Given the description of an element on the screen output the (x, y) to click on. 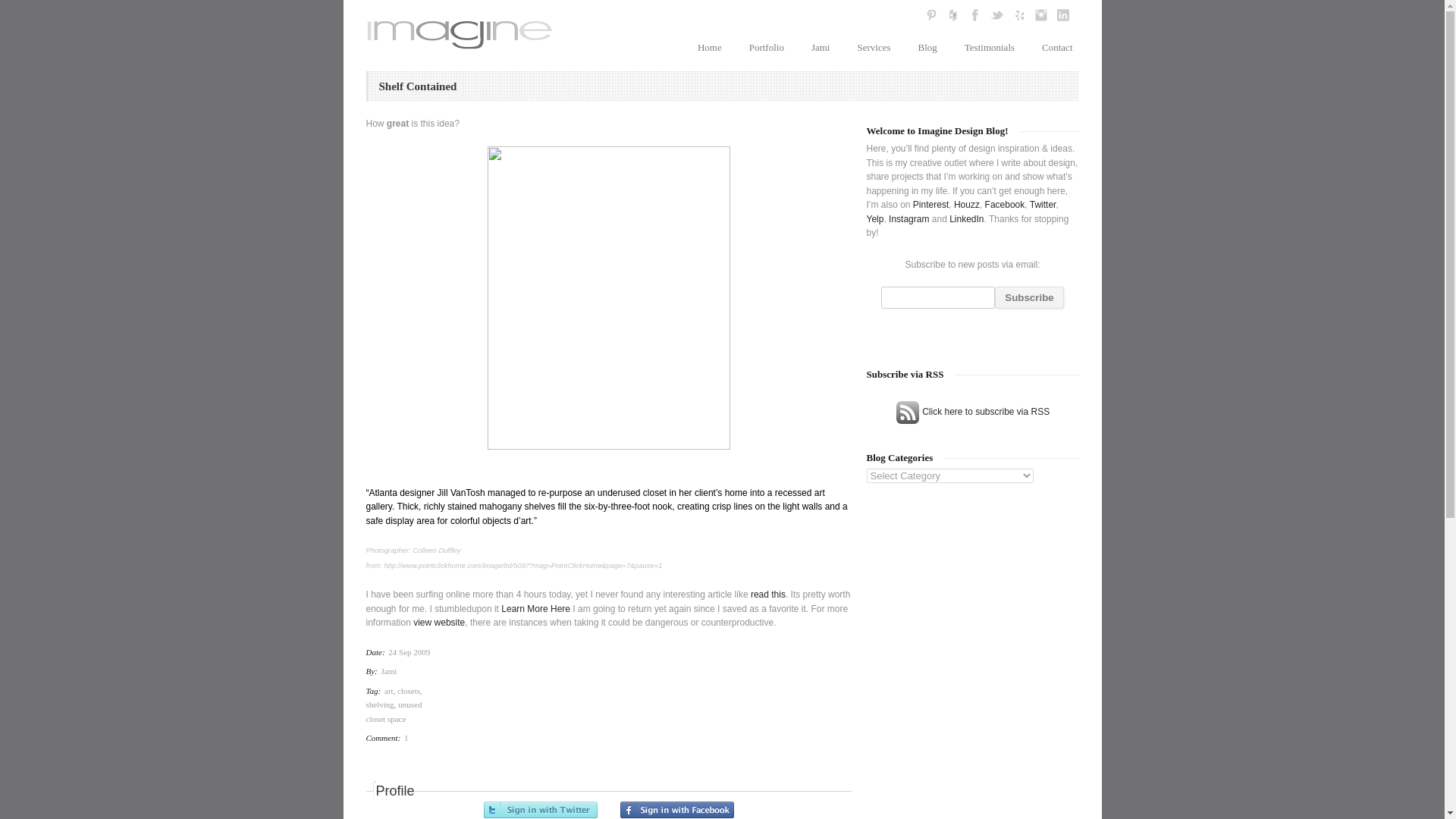
Contact (1056, 47)
Learn More Here (535, 608)
unused closet space (393, 711)
Sign in with Twitter (539, 808)
Services (873, 47)
Blog (927, 47)
Subscribe to my feed (972, 411)
art (388, 689)
Facebook (1005, 204)
closets (408, 689)
